Given the description of an element on the screen output the (x, y) to click on. 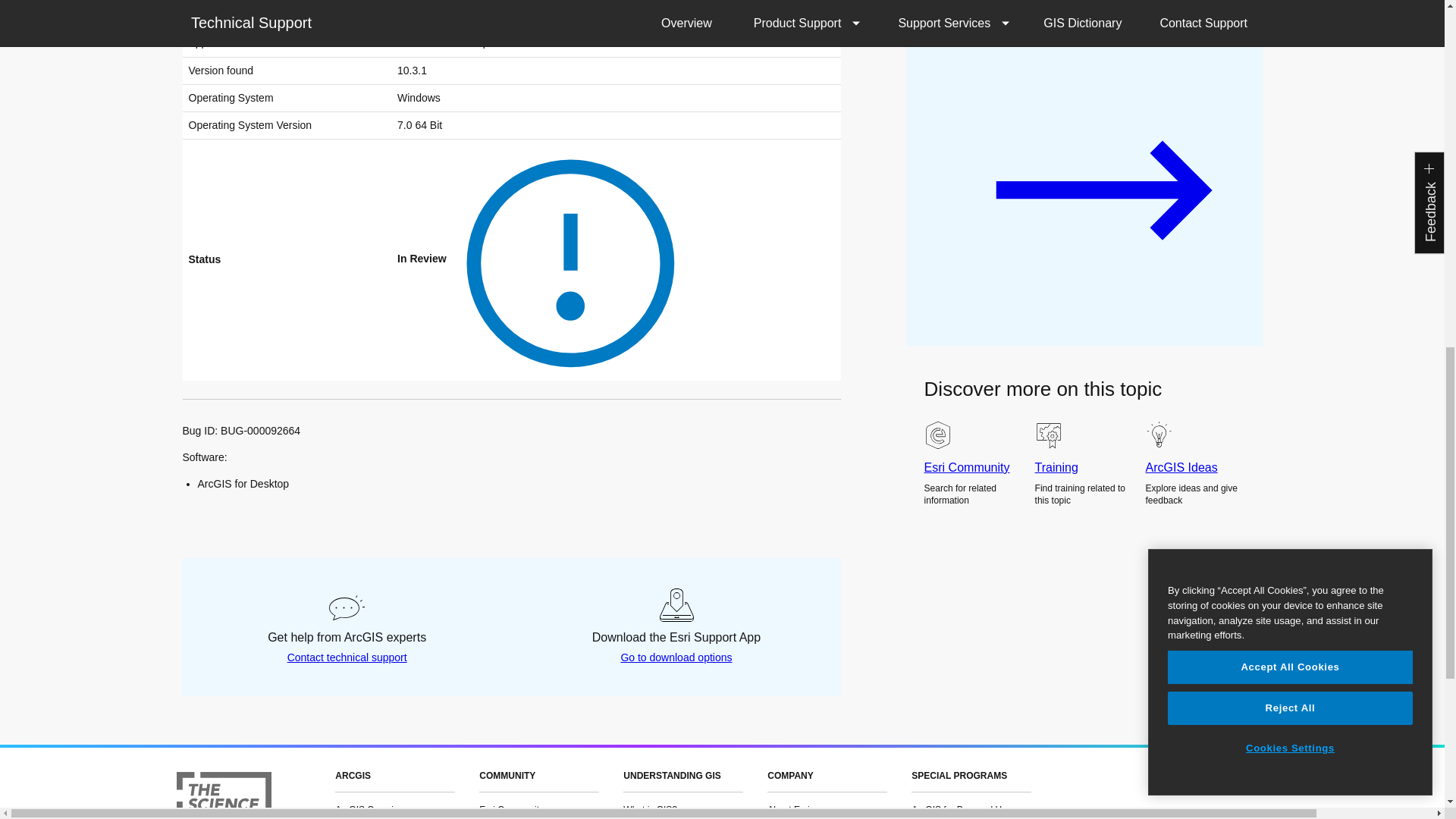
Reference element (563, 257)
More about Esri and the Science of Where (223, 795)
